Given the description of an element on the screen output the (x, y) to click on. 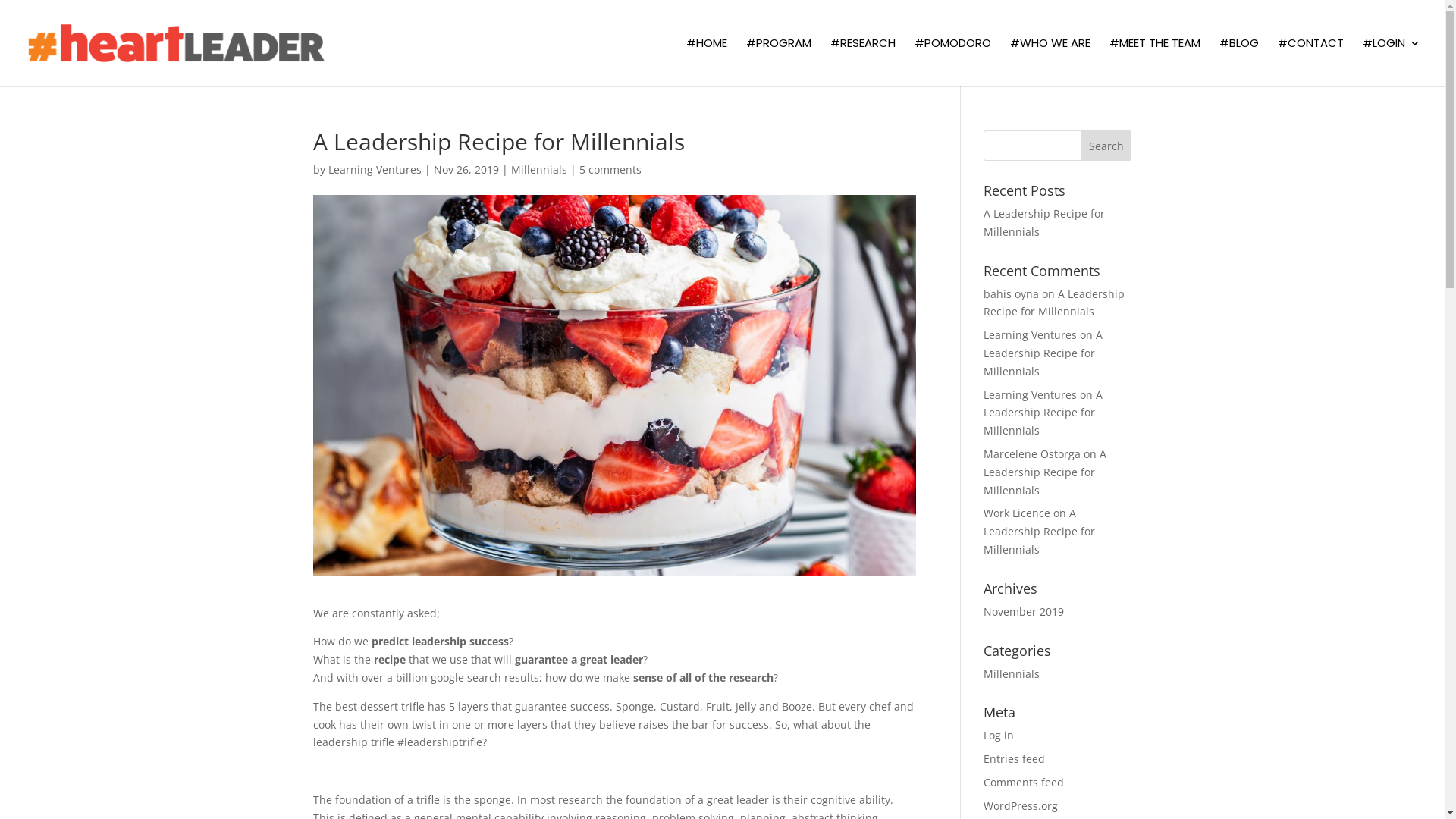
Log in Element type: text (998, 735)
A Leadership Recipe for Millennials Element type: text (1053, 302)
bahis oyna Element type: text (1010, 293)
Work Licence Element type: text (1016, 512)
#MEET THE TEAM Element type: text (1154, 61)
#POMODORO Element type: text (952, 61)
A Leadership Recipe for Millennials Element type: text (1039, 530)
Millennials Element type: text (539, 169)
Comments feed Element type: text (1023, 782)
#PROGRAM Element type: text (778, 61)
#LOGIN Element type: text (1391, 61)
A Leadership Recipe for Millennials Element type: text (1042, 412)
#BLOG Element type: text (1238, 61)
A Leadership Recipe for Millennials Element type: text (1043, 222)
#CONTACT Element type: text (1310, 61)
Entries feed Element type: text (1013, 758)
Search Element type: text (1106, 145)
Marcelene Ostorga Element type: text (1031, 453)
5 comments Element type: text (610, 169)
#RESEARCH Element type: text (862, 61)
Millennials Element type: text (1011, 673)
#WHO WE ARE Element type: text (1050, 61)
WordPress.org Element type: text (1020, 805)
#HOME Element type: text (706, 61)
A Leadership Recipe for Millennials Element type: text (1044, 471)
A Leadership Recipe for Millennials Element type: text (1042, 352)
November 2019 Element type: text (1023, 611)
Learning Ventures Element type: text (373, 169)
